Given the description of an element on the screen output the (x, y) to click on. 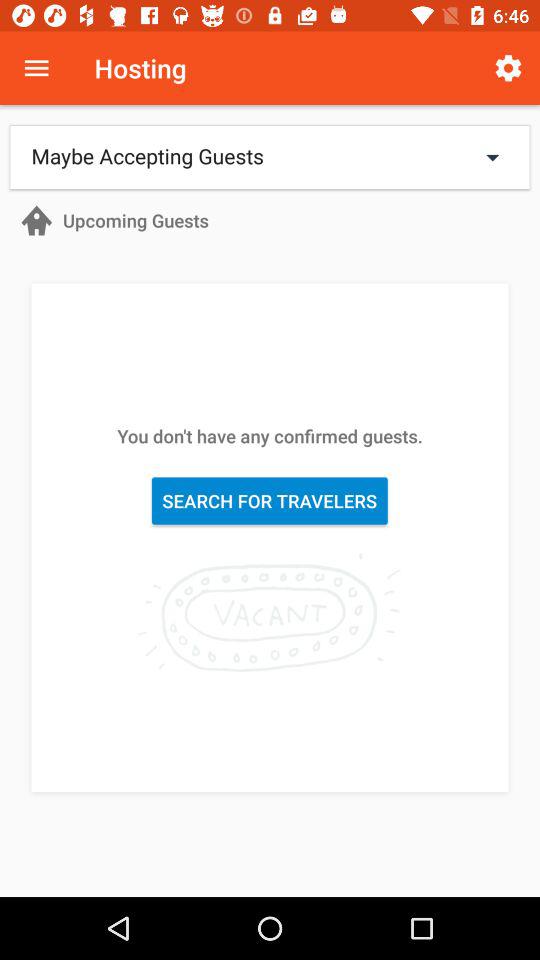
click the item to the right of the hosting item (508, 67)
